Given the description of an element on the screen output the (x, y) to click on. 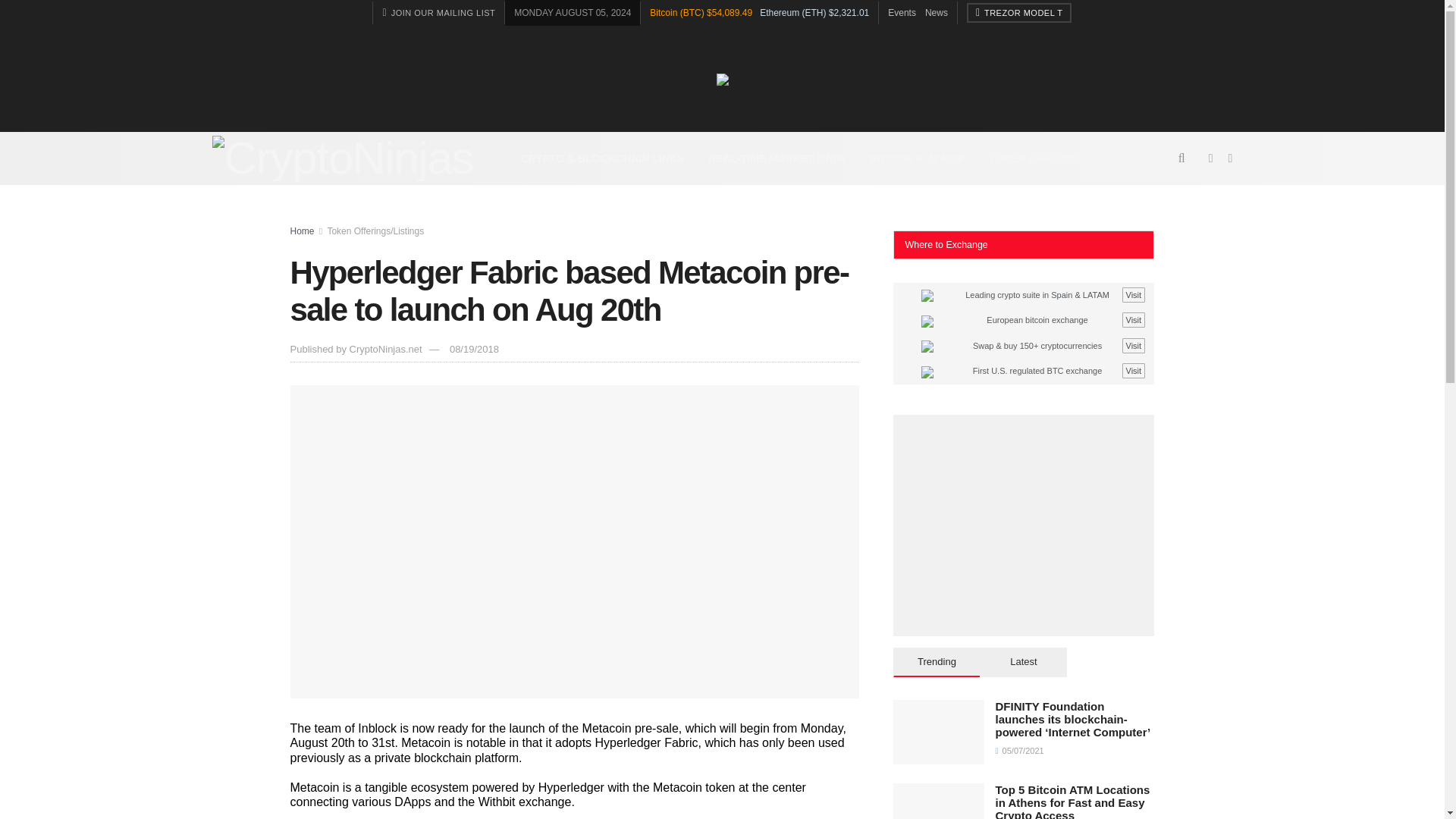
News (935, 12)
Home (301, 231)
TREZOR MODEL T (1018, 12)
BITCOIN ATM MAP (916, 158)
REAL-TIME MARKET DATA (776, 158)
Events (901, 12)
JOIN OUR MAILING LIST (438, 12)
